Given the description of an element on the screen output the (x, y) to click on. 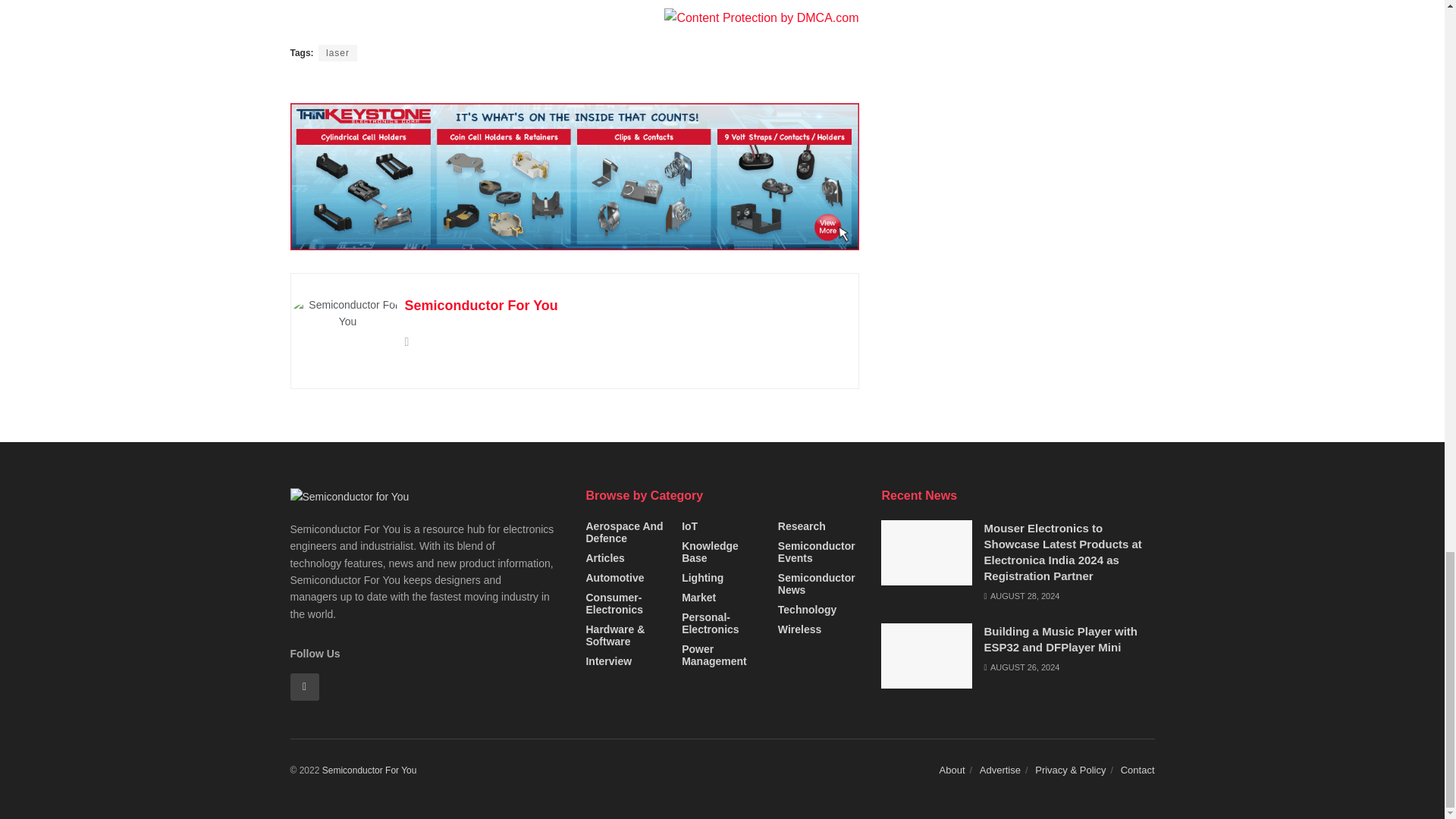
Content Protection by DMCA.com (761, 17)
